Given the description of an element on the screen output the (x, y) to click on. 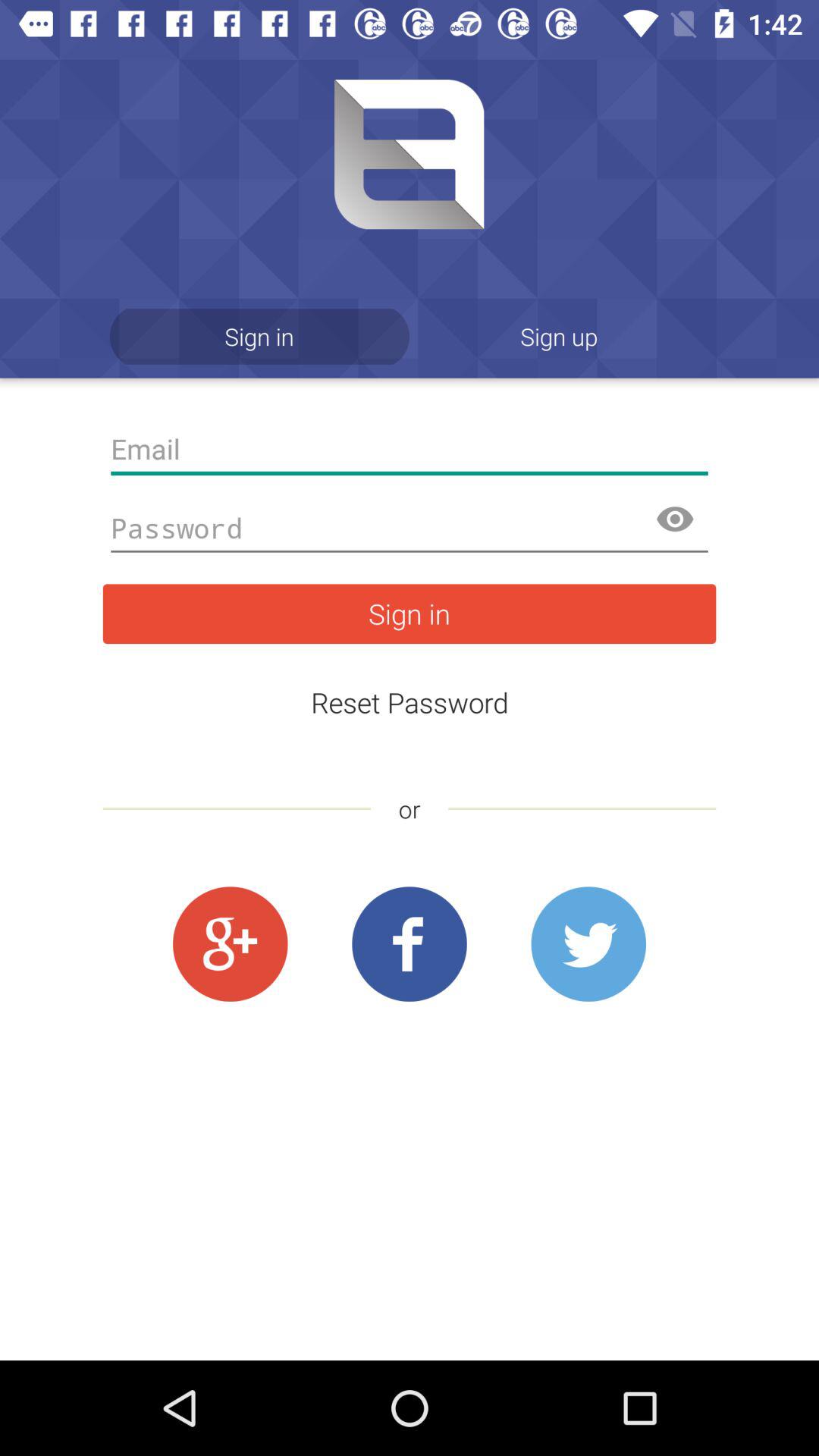
email address (409, 449)
